Given the description of an element on the screen output the (x, y) to click on. 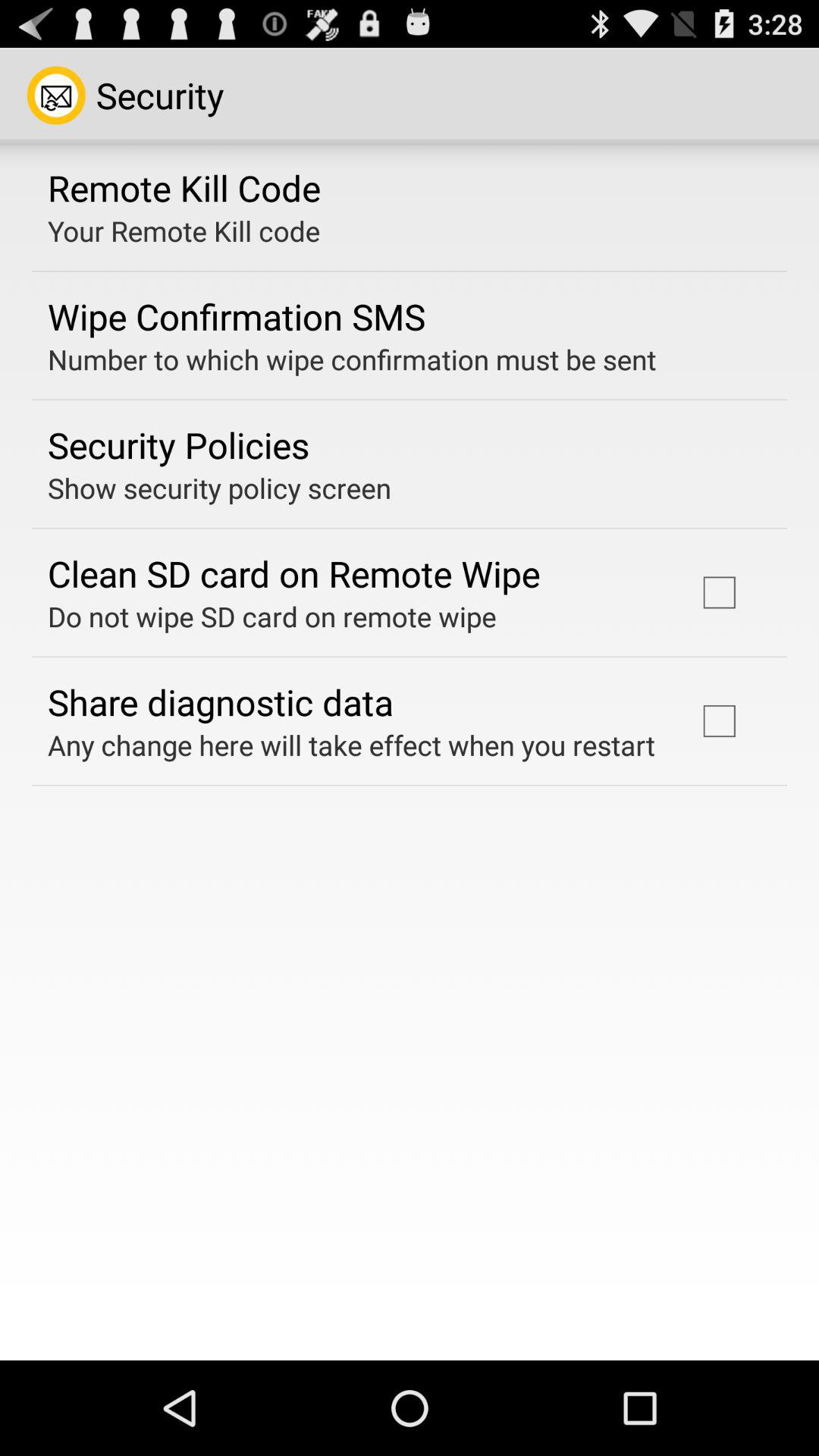
open show security policy icon (219, 487)
